Given the description of an element on the screen output the (x, y) to click on. 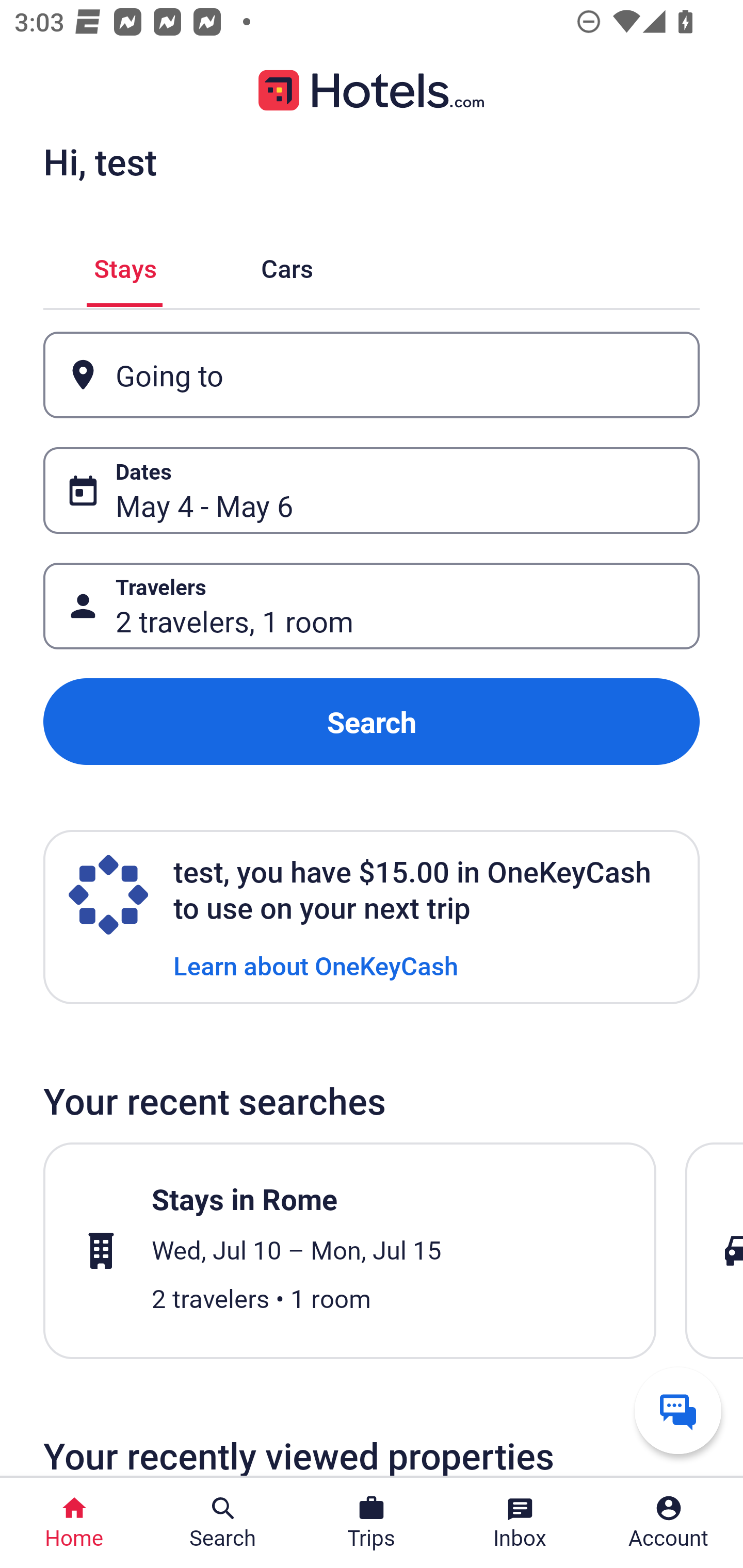
Hi, test (99, 161)
Cars (286, 265)
Going to Button (371, 375)
Dates Button May 4 - May 6 (371, 489)
Travelers Button 2 travelers, 1 room (371, 605)
Search (371, 721)
Learn about OneKeyCash Learn about OneKeyCash Link (315, 964)
Get help from a virtual agent (677, 1410)
Search Search Button (222, 1522)
Trips Trips Button (371, 1522)
Inbox Inbox Button (519, 1522)
Account Profile. Button (668, 1522)
